Given the description of an element on the screen output the (x, y) to click on. 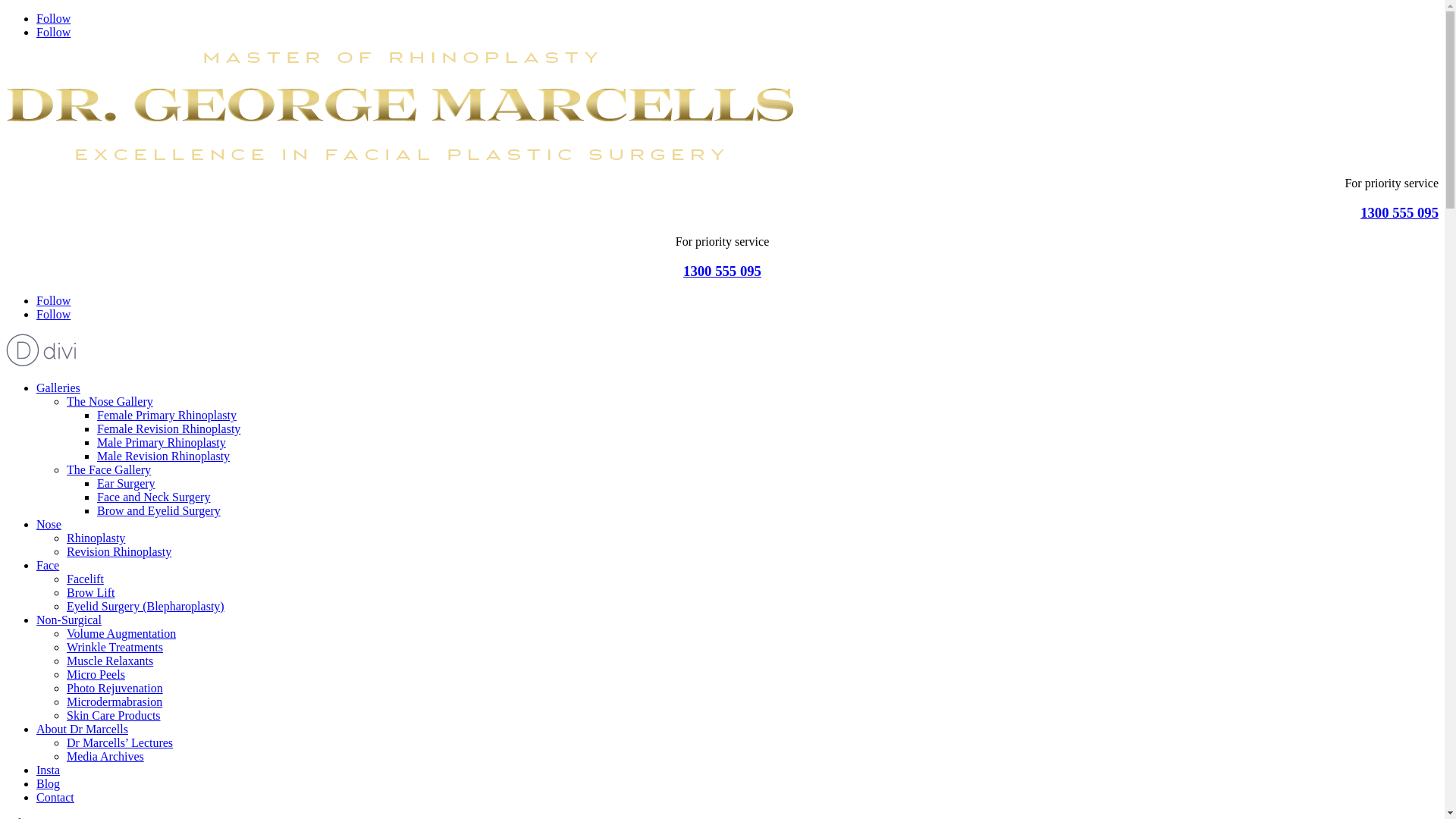
Brow Lift Element type: text (90, 592)
Blog Element type: text (47, 783)
Male Primary Rhinoplasty Element type: text (161, 442)
Nose Element type: text (48, 523)
Face Element type: text (47, 564)
Micro Peels Element type: text (95, 674)
Microdermabrasion Element type: text (114, 701)
Media Archives Element type: text (105, 755)
Brow and Eyelid Surgery Element type: text (158, 510)
Photo Rejuvenation Element type: text (114, 687)
Follow Element type: text (53, 18)
Non-Surgical Element type: text (68, 619)
The Face Gallery Element type: text (108, 469)
1300 555 095 Element type: text (1399, 212)
Wrinkle Treatments Element type: text (114, 646)
About Dr Marcells Element type: text (82, 728)
Insta Element type: text (47, 769)
Ear Surgery Element type: text (126, 482)
Muscle Relaxants Element type: text (109, 660)
Face and Neck Surgery Element type: text (153, 496)
The Nose Gallery Element type: text (109, 401)
Skin Care Products Element type: text (113, 715)
Revision Rhinoplasty Element type: text (118, 551)
1300 555 095 Element type: text (722, 271)
Facelift Element type: text (84, 578)
Volume Augmentation Element type: text (120, 633)
Follow Element type: text (53, 300)
Follow Element type: text (53, 31)
Male Revision Rhinoplasty Element type: text (163, 455)
Follow Element type: text (53, 313)
Eyelid Surgery (Blepharoplasty) Element type: text (145, 605)
Female Revision Rhinoplasty Element type: text (168, 428)
Female Primary Rhinoplasty Element type: text (166, 414)
Rhinoplasty Element type: text (95, 537)
Galleries Element type: text (58, 387)
Contact Element type: text (55, 796)
